Given the description of an element on the screen output the (x, y) to click on. 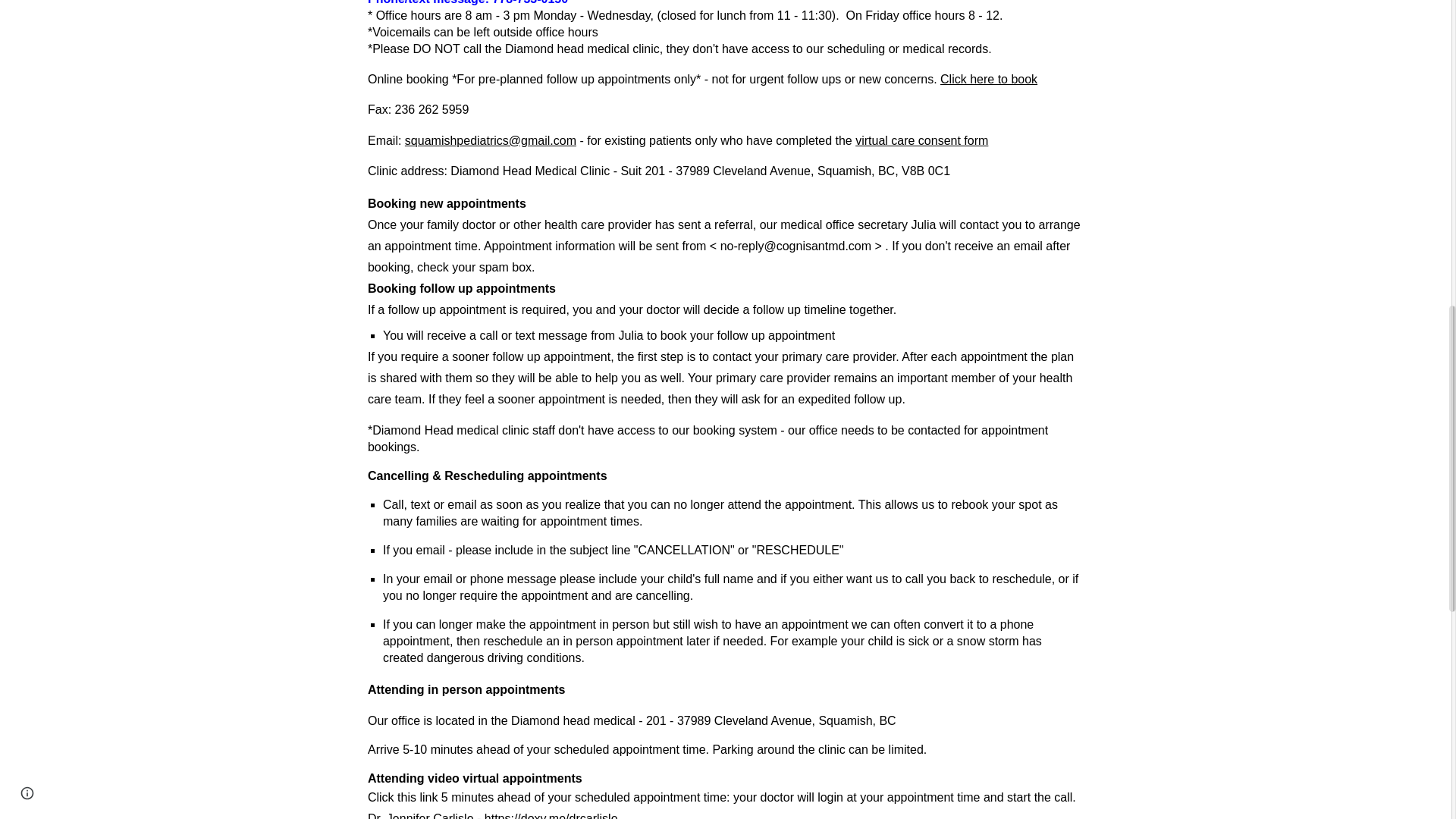
virtual care consent form (922, 140)
201 - 37989 Cleveland Avenue, Squamish, BC (770, 170)
Click here to book (988, 78)
201 - 37989 Cleveland Avenue, Squamish, BC (771, 720)
